Given the description of an element on the screen output the (x, y) to click on. 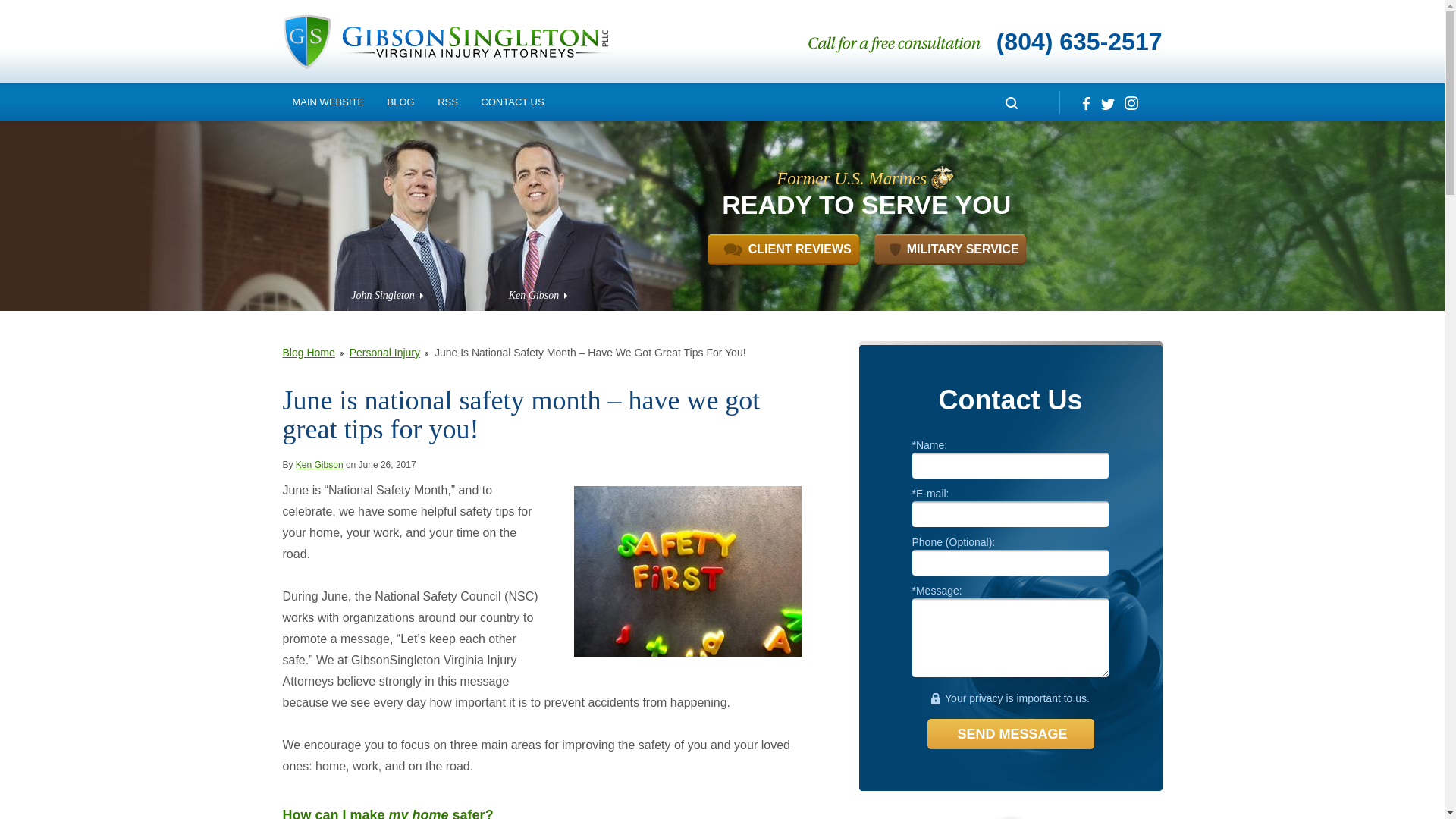
RSS (447, 102)
Send Message (1009, 734)
MILITARY SERVICE (950, 249)
Follow us on Twitter (1107, 101)
CLIENT REVIEWS (783, 249)
CONTACT US (511, 102)
Blog Home (312, 352)
Instagram (1130, 101)
MAIN WEBSITE (328, 102)
Personal Injury (389, 352)
Ken Gibson (319, 464)
Follow us on Facebook (1085, 101)
Ken Gibson (536, 295)
John Singleton (386, 295)
BLOG (401, 102)
